Given the description of an element on the screen output the (x, y) to click on. 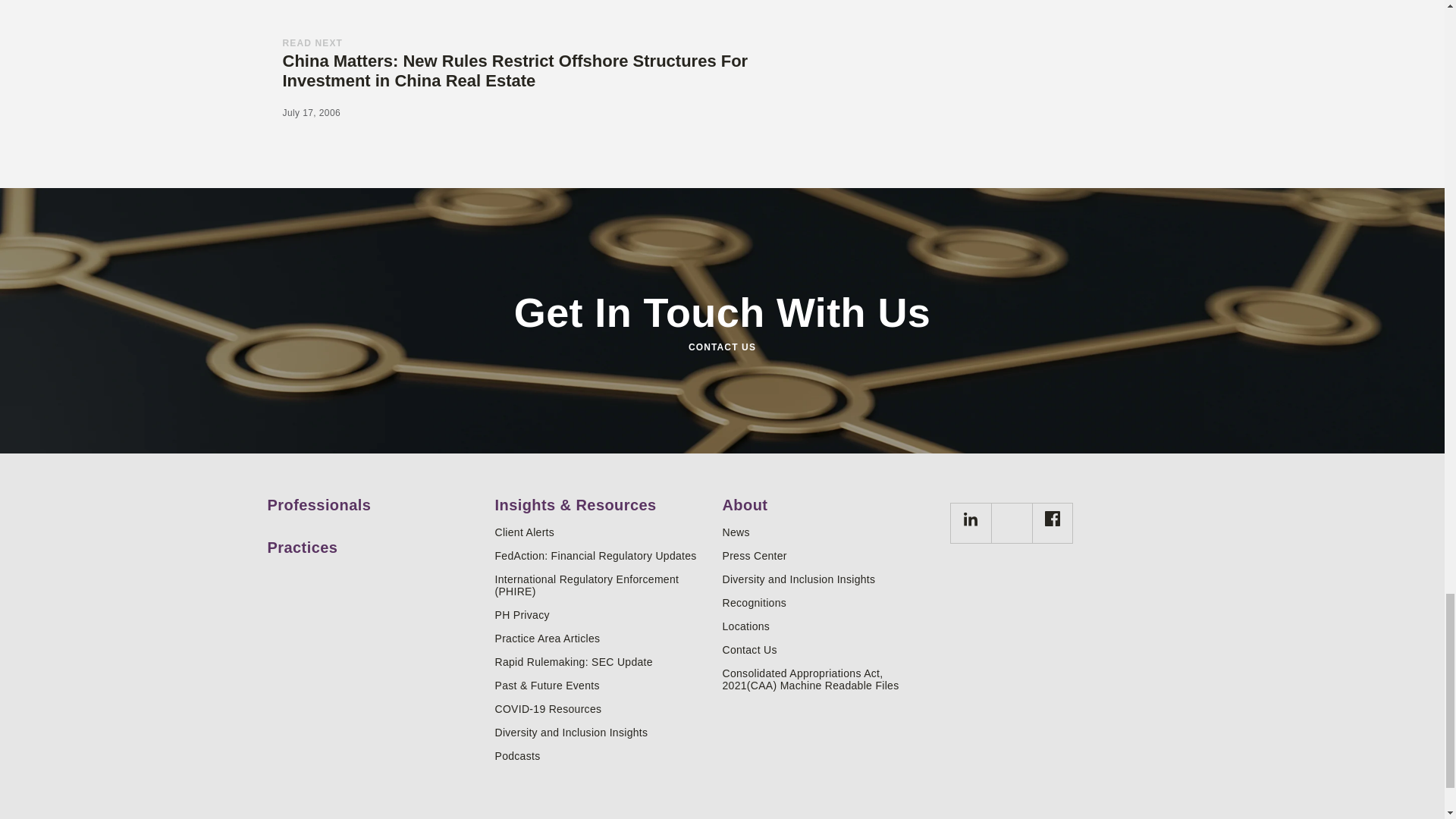
PH Privacy (602, 614)
Rapid Rulemaking: SEC Update (602, 662)
Press Center (829, 555)
Diversity and Inclusion Insights (602, 732)
Practice Area Articles (602, 638)
Client Alerts (602, 532)
CONTACT US (721, 347)
About (829, 499)
CB6A0679-7CD4-47AB-9AF9-079521319001Created with sketchtool. (969, 522)
CB6A0679-7CD4-47AB-9AF9-079521319001Created with sketchtool. (969, 518)
